Given the description of an element on the screen output the (x, y) to click on. 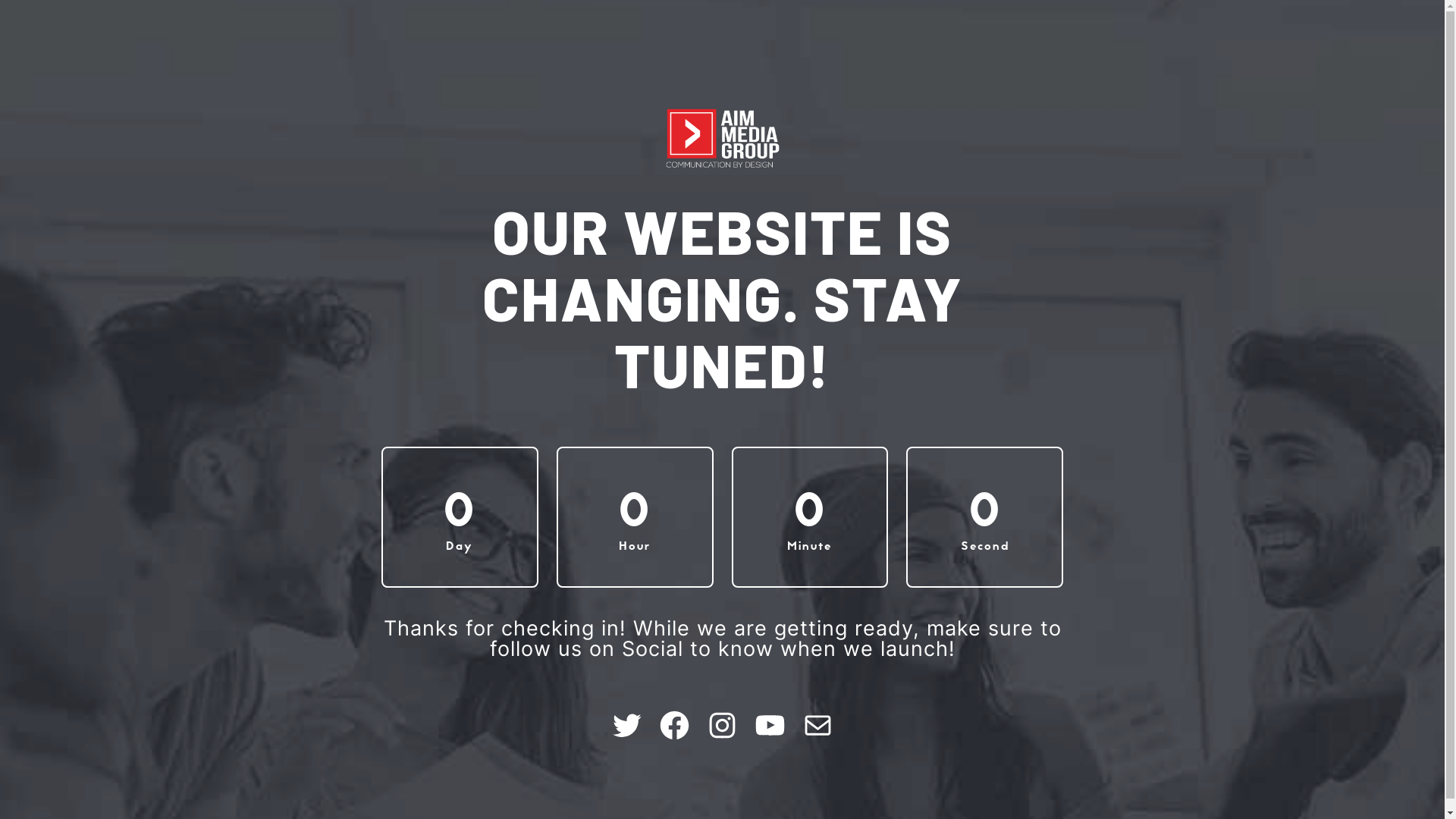
Facebook Element type: text (674, 725)
Instagram Element type: text (722, 725)
YouTube Element type: text (770, 725)
Twitter Element type: text (626, 725)
Mail Element type: text (817, 725)
